Given the description of an element on the screen output the (x, y) to click on. 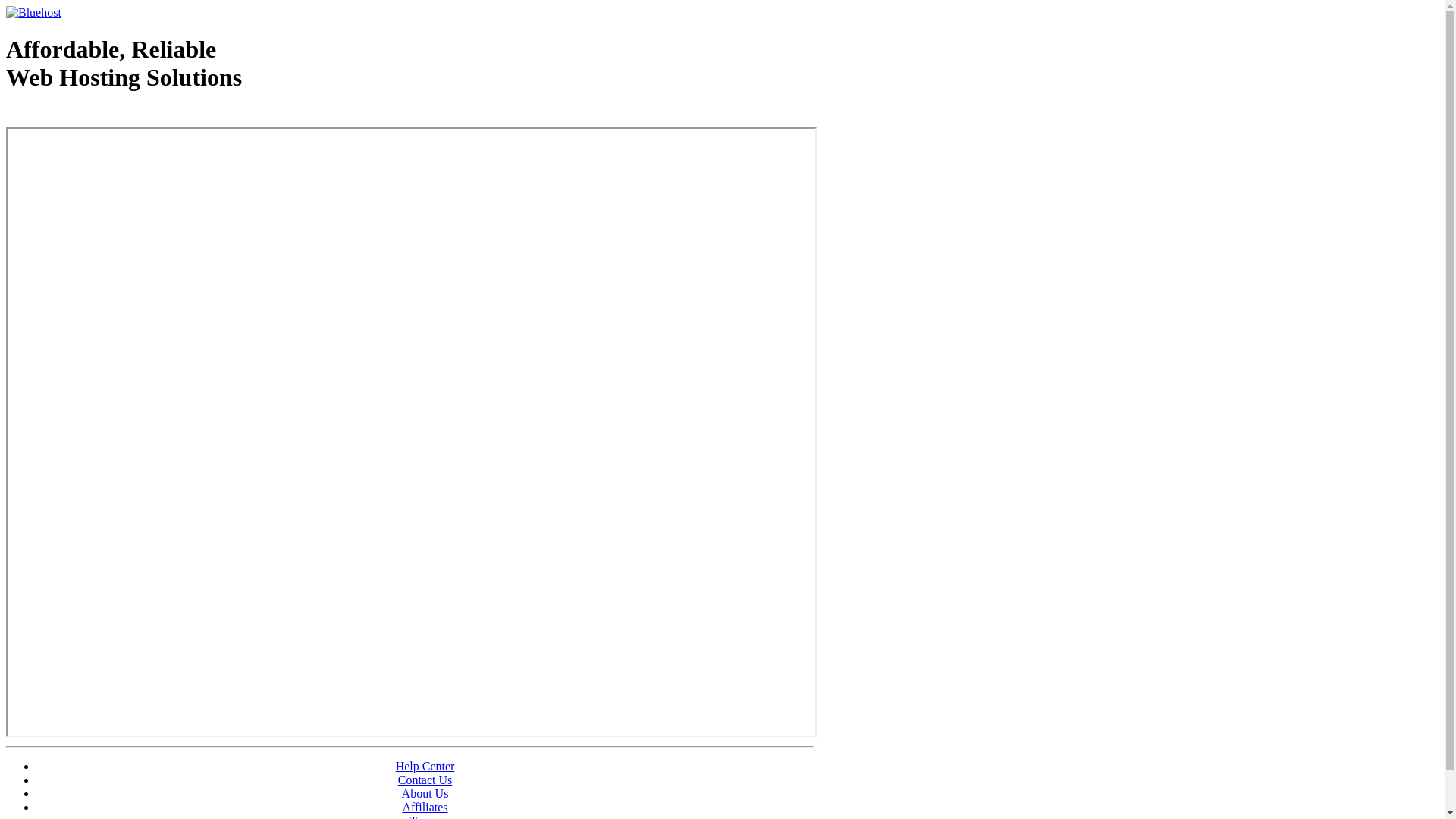
About Us Element type: text (424, 793)
Contact Us Element type: text (425, 779)
Affiliates Element type: text (424, 806)
Web Hosting - courtesy of www.bluehost.com Element type: text (94, 115)
Help Center Element type: text (425, 765)
